Given the description of an element on the screen output the (x, y) to click on. 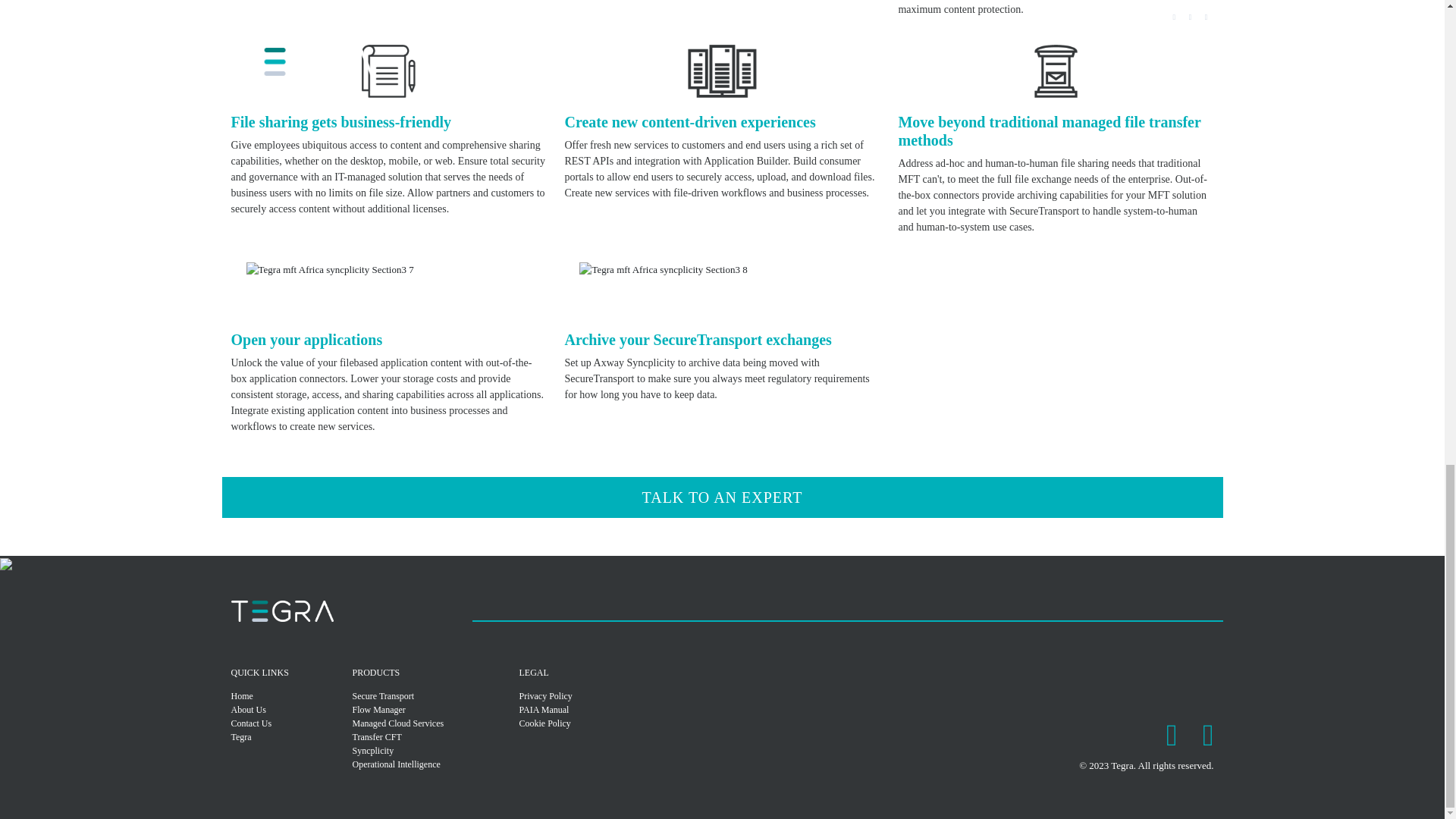
About Us (304, 709)
PAIA Manual (592, 709)
Tegra (304, 736)
TALK TO AN EXPERT (722, 496)
Home (304, 695)
Transfer CFT (426, 736)
Cookie Policy (592, 723)
Syncplicity (426, 750)
Contact Us (304, 723)
Operational Intelligence (426, 764)
Secure Transport (426, 695)
Flow Manager (426, 709)
Managed Cloud Services (426, 723)
Privacy Policy (592, 695)
